Given the description of an element on the screen output the (x, y) to click on. 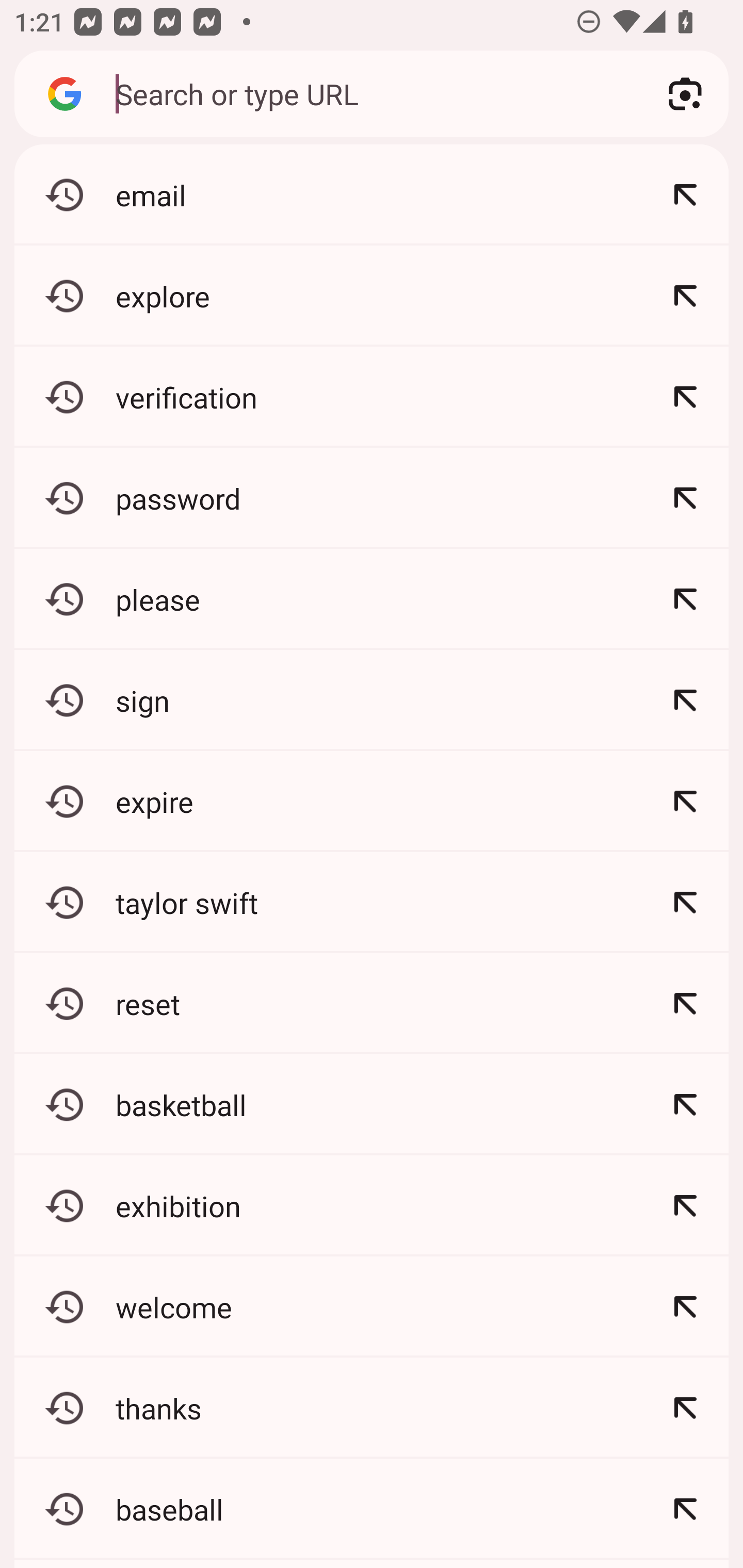
Search with your camera using Google Lens (684, 93)
Search or type URL (367, 92)
email Refine: email (371, 195)
Refine: email (684, 195)
explore Refine: explore (371, 296)
Refine: explore (684, 296)
verification Refine: verification (371, 397)
Refine: verification (684, 397)
password Refine: password (371, 498)
Refine: password (684, 498)
please Refine: please (371, 598)
Refine: please (684, 598)
sign Refine: sign (371, 700)
Refine: sign (684, 700)
expire Refine: expire (371, 801)
Refine: expire (684, 801)
taylor swift Refine: taylor swift (371, 902)
Refine: taylor swift (684, 902)
reset Refine: reset (371, 1003)
Refine: reset (684, 1003)
basketball Refine: basketball (371, 1104)
Refine: basketball (684, 1104)
exhibition Refine: exhibition (371, 1205)
Refine: exhibition (684, 1205)
welcome Refine: welcome (371, 1306)
Refine: welcome (684, 1306)
thanks Refine: thanks (371, 1407)
Refine: thanks (684, 1407)
baseball Refine: baseball (371, 1509)
Refine: baseball (684, 1509)
